Given the description of an element on the screen output the (x, y) to click on. 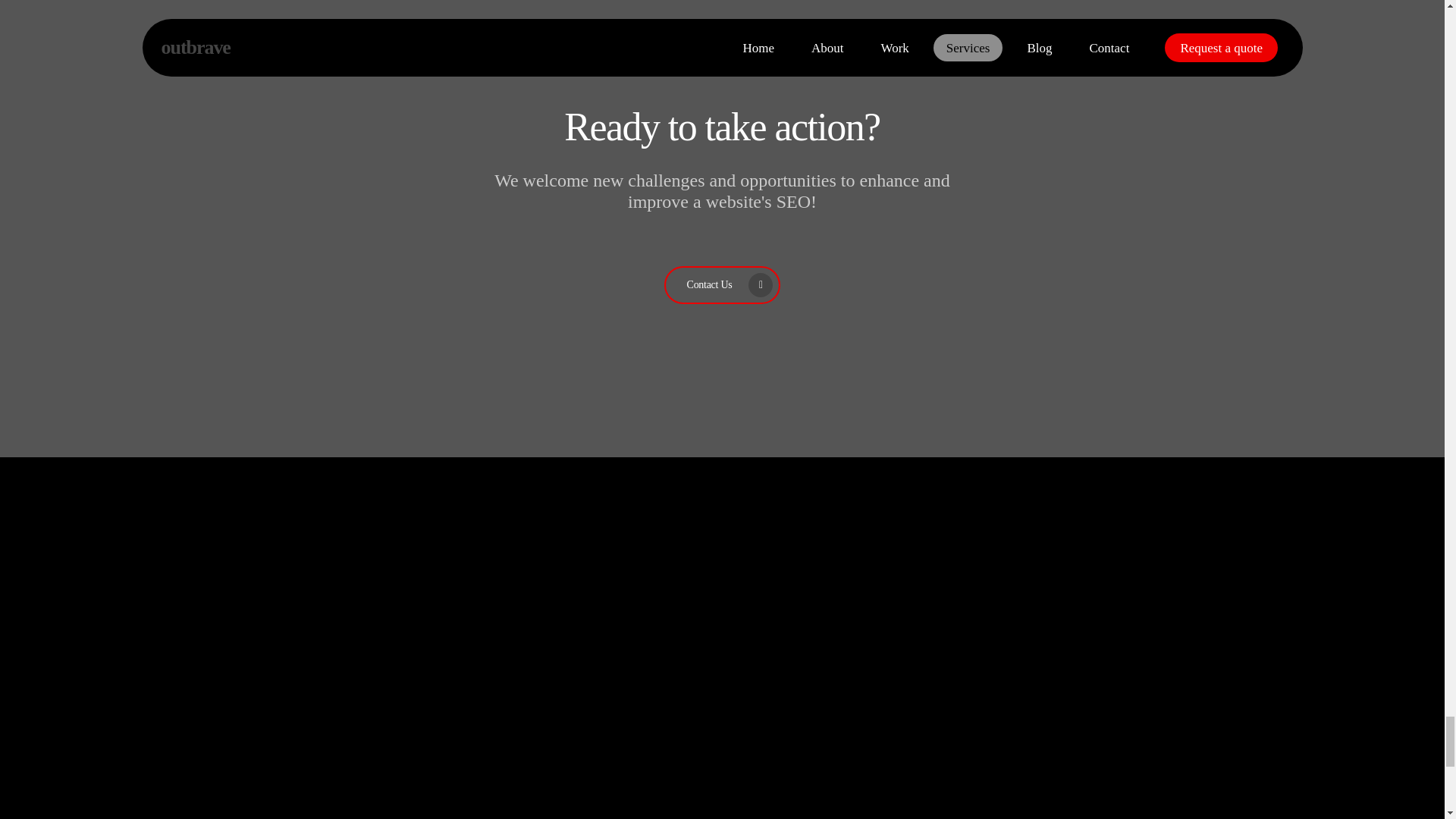
Contact (721, 126)
Contact Us (721, 284)
Ready to take action? (721, 126)
